Given the description of an element on the screen output the (x, y) to click on. 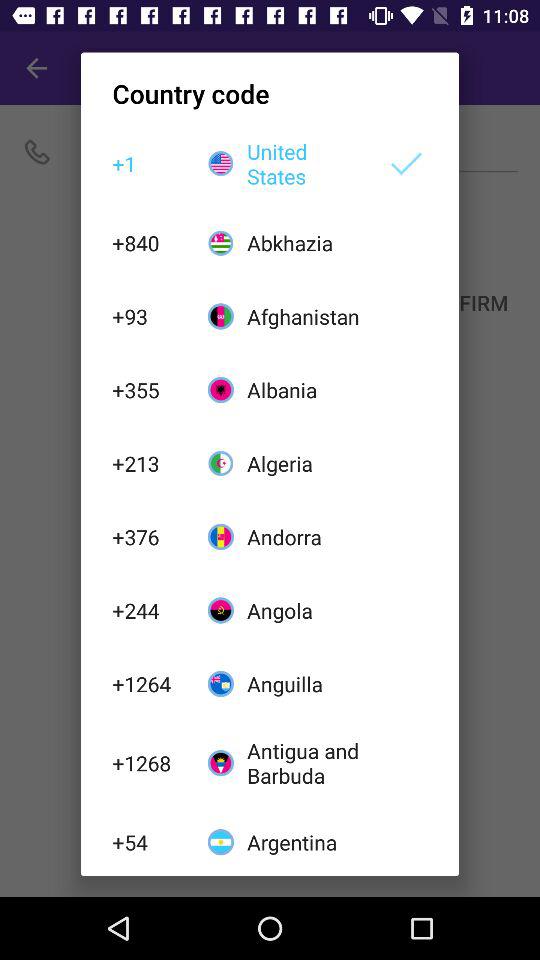
scroll until +93 item (149, 316)
